Given the description of an element on the screen output the (x, y) to click on. 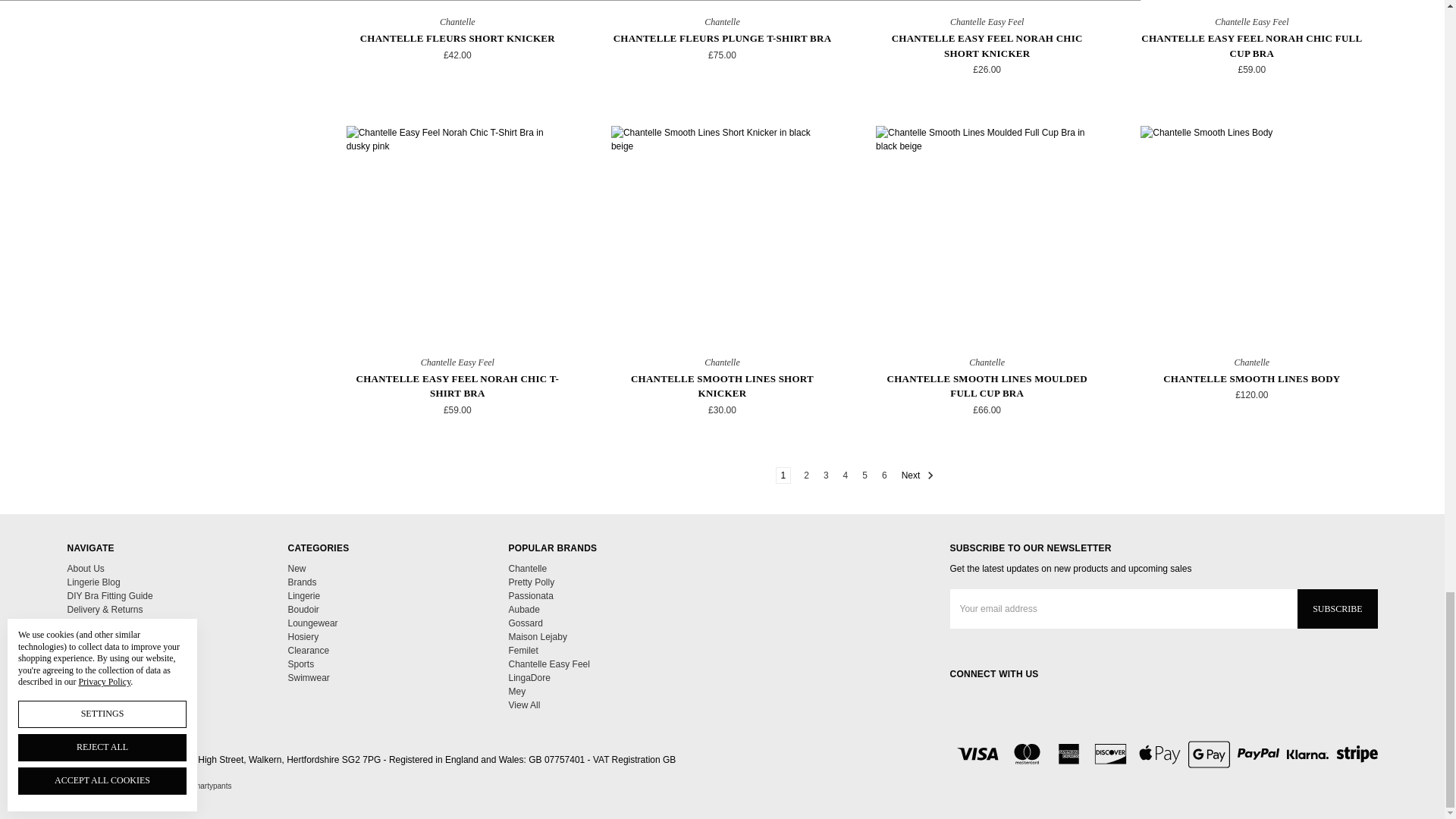
Chantelle Fleurs Plunge T-Shirt Bra (721, 4)
Subscribe (1337, 608)
Chantelle Fleurs Short Knicker (457, 4)
Chantelle Easy Feel Norah Chic Short Knicker in black (986, 4)
